Given the description of an element on the screen output the (x, y) to click on. 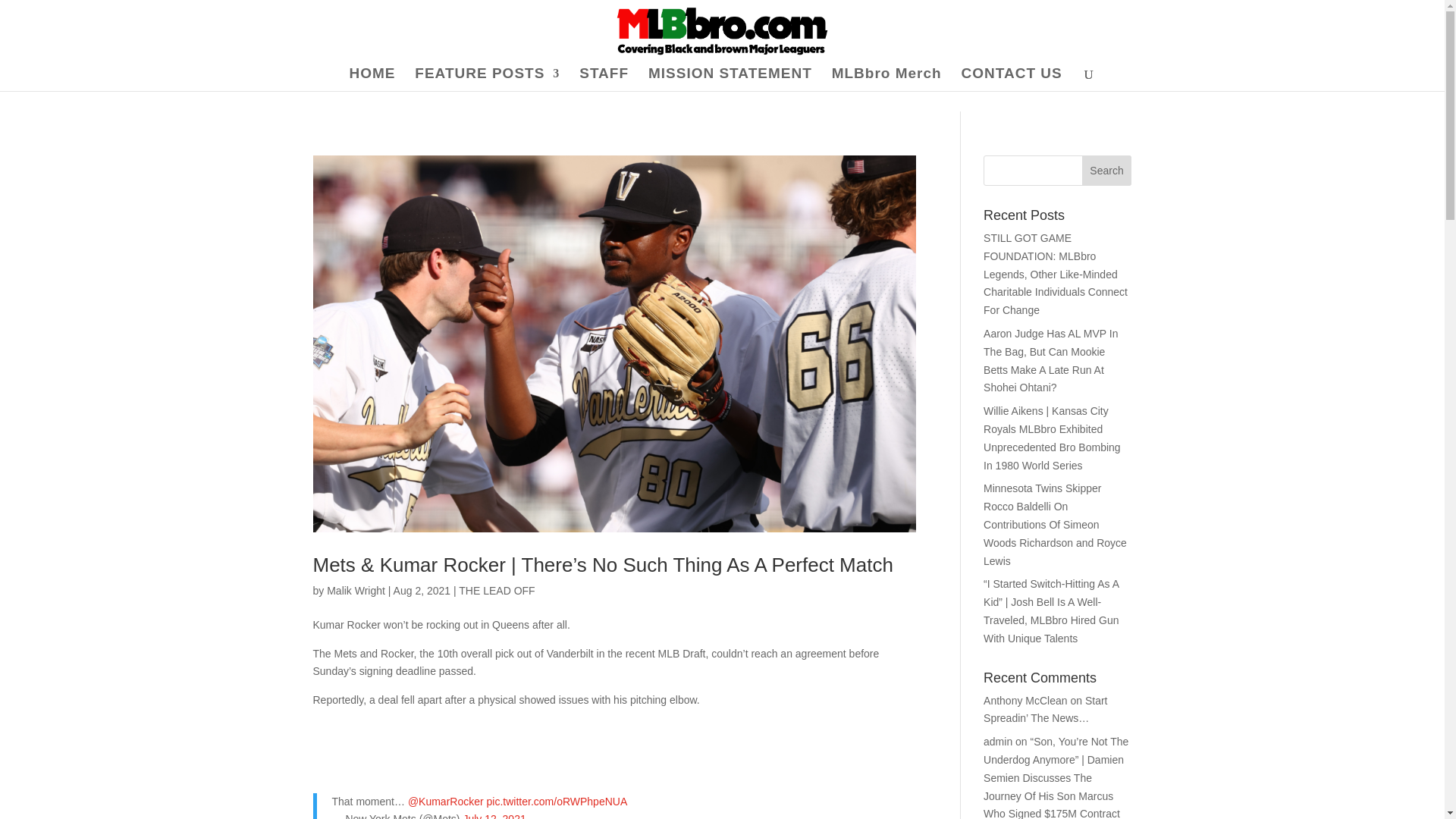
Search (1106, 170)
Posts by Malik Wright (355, 590)
THE LEAD OFF (496, 590)
MLBbro Merch (886, 78)
Malik Wright (355, 590)
MISSION STATEMENT (729, 78)
HOME (371, 78)
FEATURE POSTS (486, 78)
CONTACT US (1011, 78)
July 12, 2021 (494, 816)
